Given the description of an element on the screen output the (x, y) to click on. 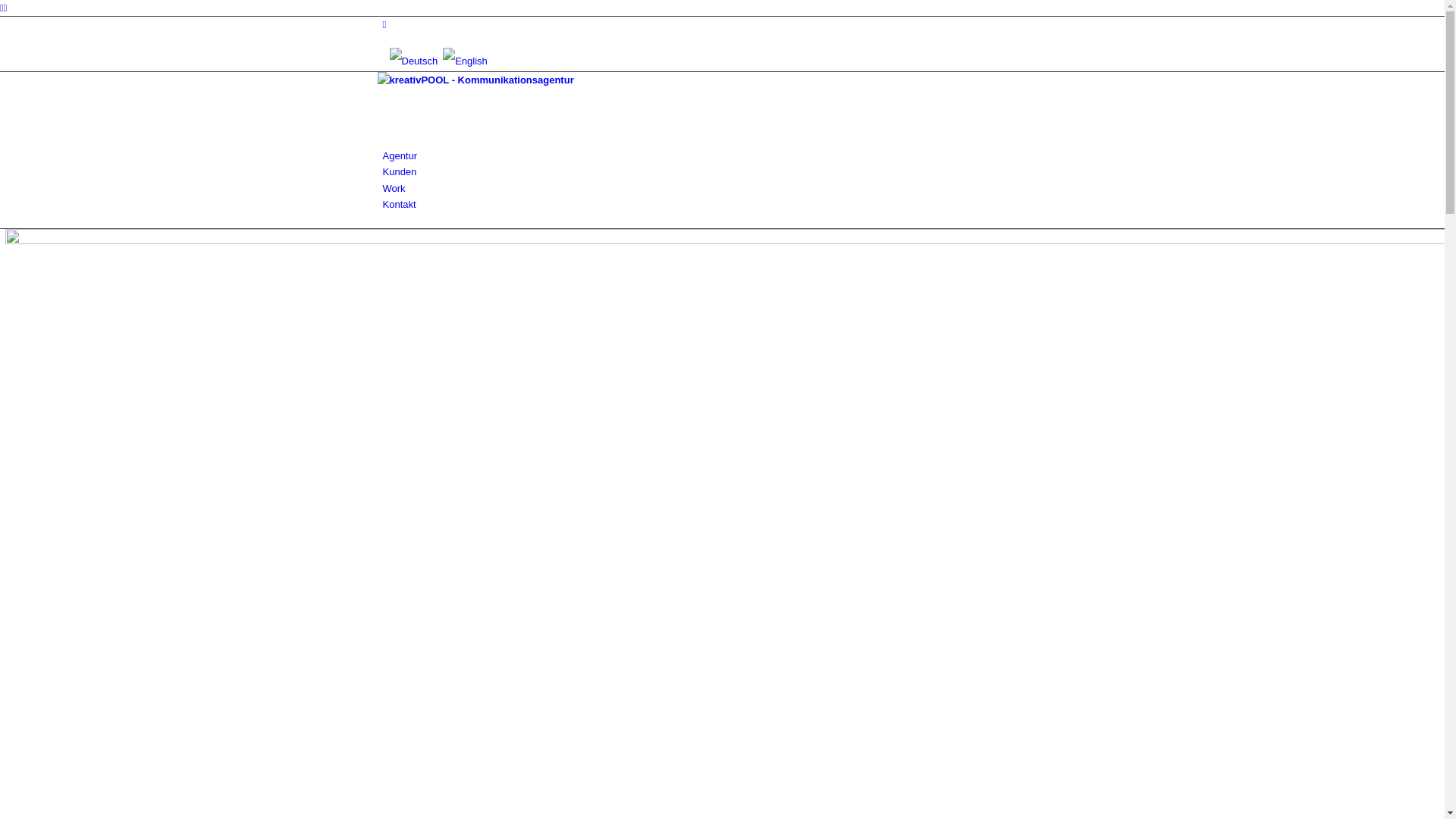
Agentur Element type: text (399, 155)
Facebook Element type: hover (383, 24)
Kunden Element type: text (399, 171)
Deutsch Element type: hover (413, 61)
Work Element type: text (393, 188)
English Element type: hover (465, 61)
Kontakt Element type: text (398, 204)
